Given the description of an element on the screen output the (x, y) to click on. 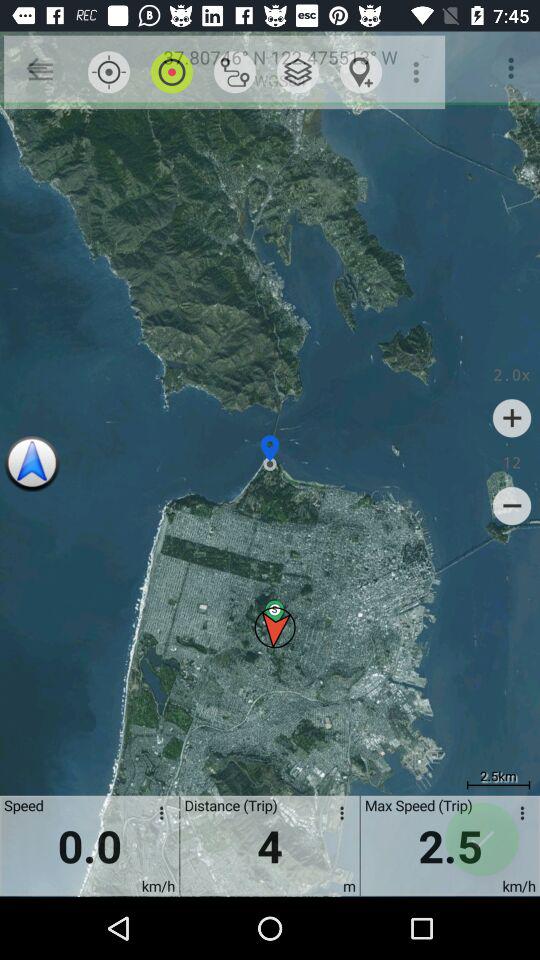
click item below 2.0x icon (512, 418)
